Given the description of an element on the screen output the (x, y) to click on. 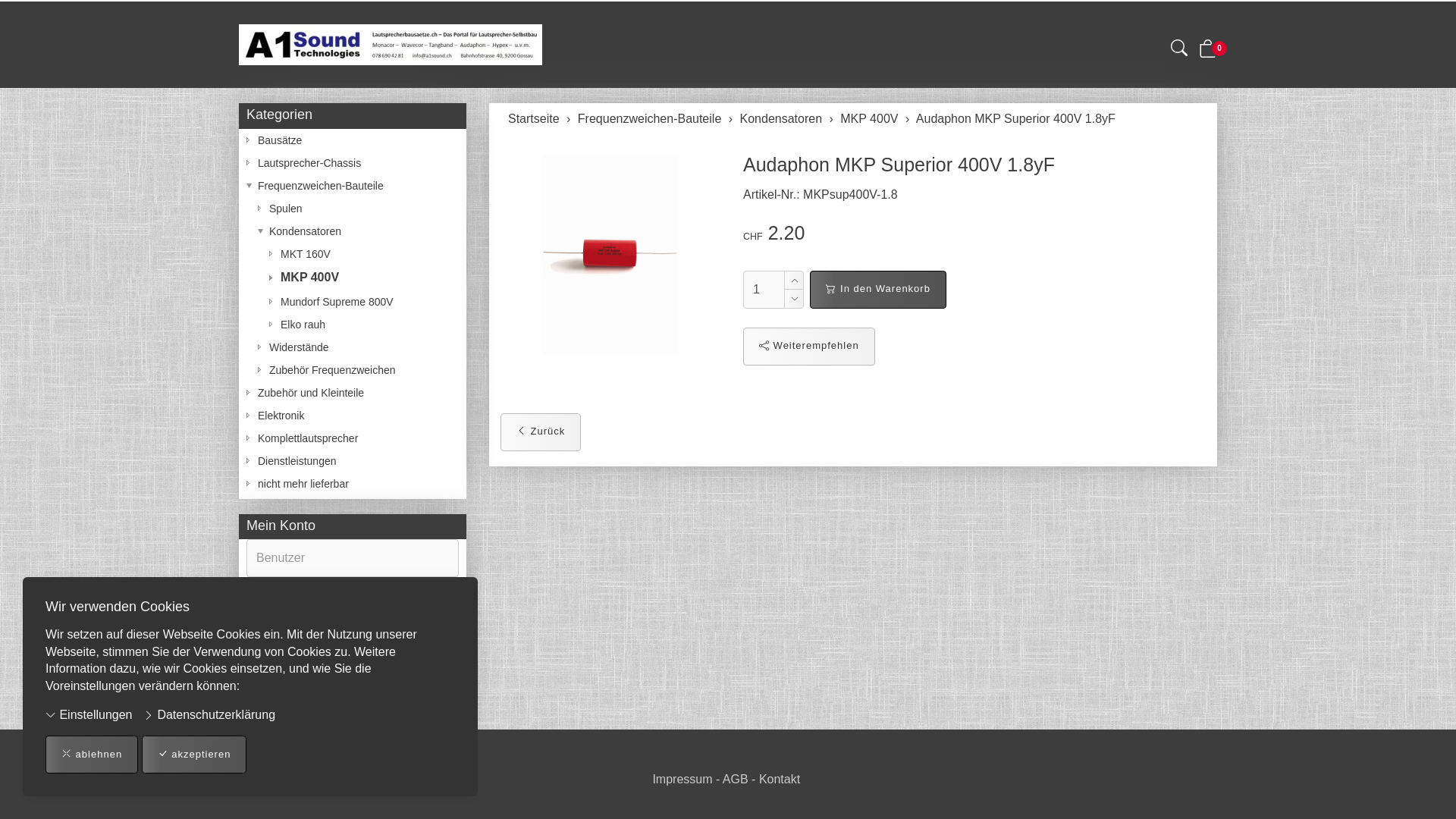
Dienstleistungen Element type: text (352, 460)
akzeptieren Element type: text (194, 754)
Spulen Element type: text (352, 208)
Suche Element type: hover (1178, 50)
MKP 400V Element type: text (352, 277)
Startseite Element type: text (533, 118)
Menge Element type: hover (763, 289)
MKP 400V Element type: text (868, 118)
0 Element type: text (1207, 52)
Neukunden Anmeldung Element type: text (352, 710)
Elektronik Element type: text (352, 415)
nicht mehr lieferbar Element type: text (352, 483)
Kondensatoren Element type: text (781, 118)
Elko rauh Element type: text (352, 324)
MKT 160V Element type: text (352, 253)
ablehnen Element type: text (91, 754)
Komplettlautsprecher Element type: text (352, 437)
Passwort vergessen Element type: text (352, 685)
Kontakt Element type: text (779, 778)
Impressum Element type: text (682, 778)
AGB Element type: text (735, 778)
Mundorf Supreme 800V Element type: text (352, 301)
Einstellungen Element type: text (88, 715)
Anmelden Element type: text (282, 661)
In den Warenkorb Element type: text (877, 289)
Kondensatoren Element type: text (352, 230)
Weiterempfehlen Element type: text (809, 346)
Lautsprecher-Chassis Element type: text (352, 162)
Frequenzweichen-Bauteile Element type: text (352, 185)
Frequenzweichen-Bauteile Element type: text (649, 118)
